Given the description of an element on the screen output the (x, y) to click on. 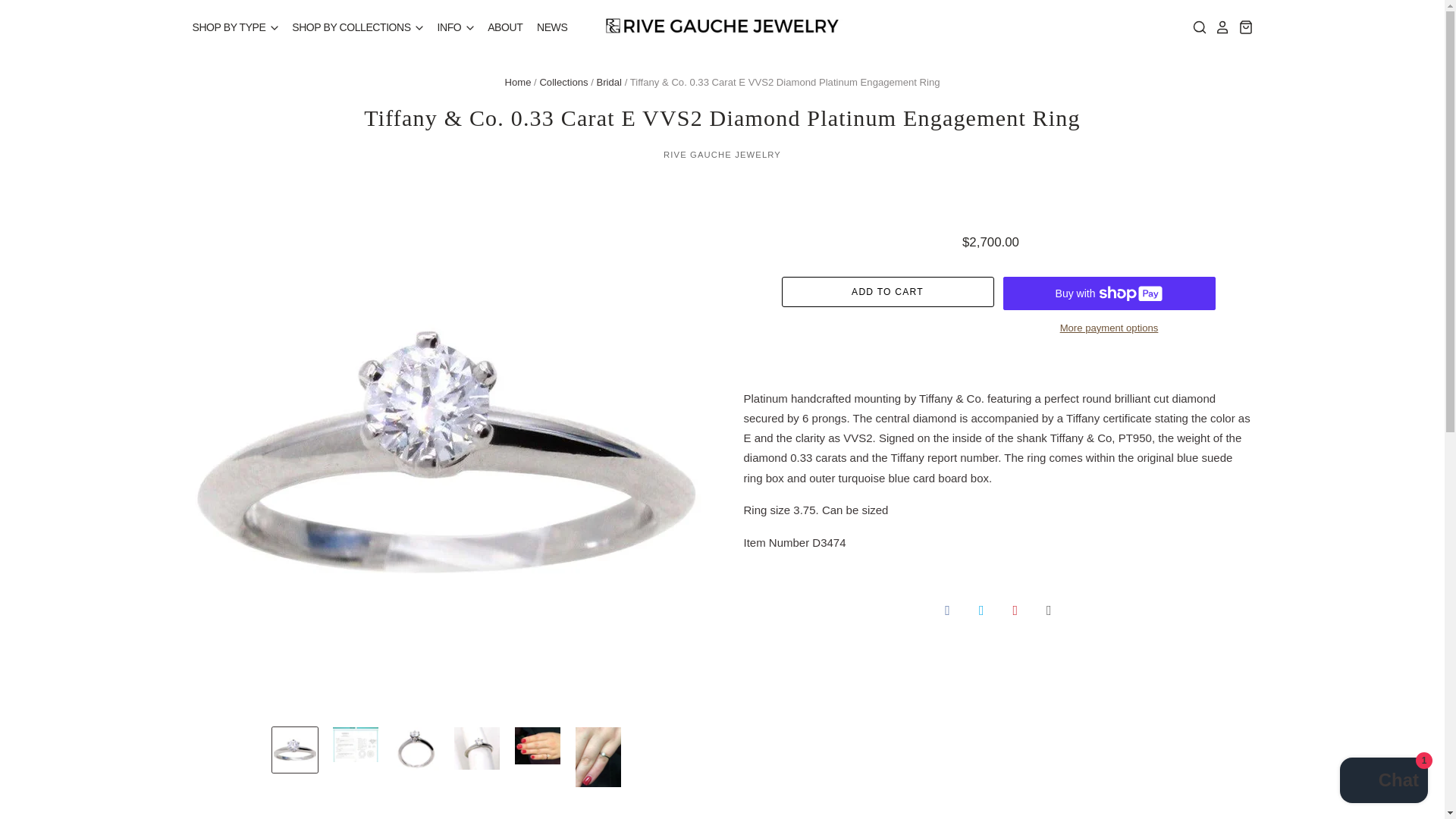
Add to cart (886, 291)
SHOP BY COLLECTIONS (352, 27)
Shopify online store chat (1383, 781)
SHOP BY TYPE (235, 27)
